Given the description of an element on the screen output the (x, y) to click on. 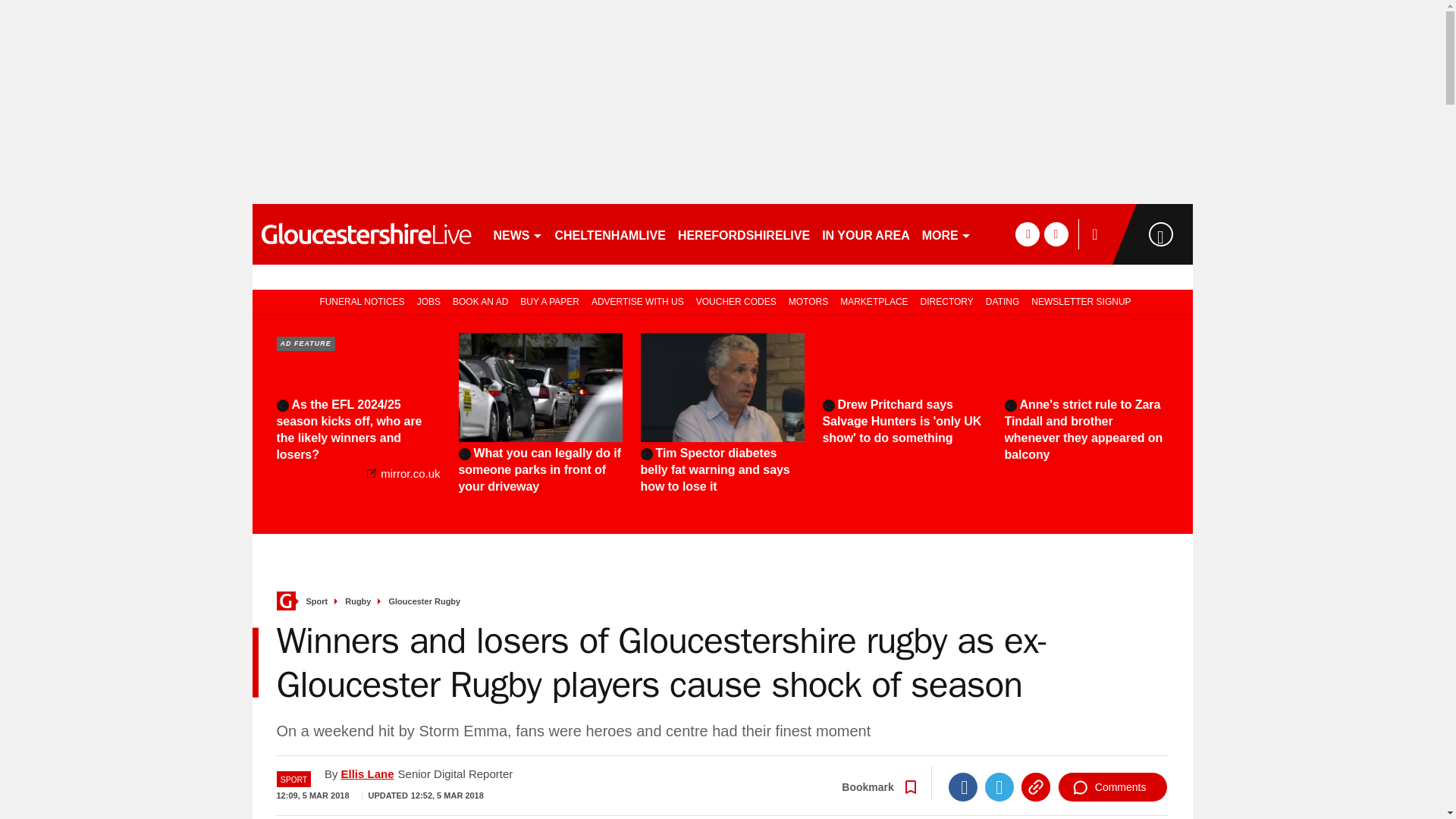
MORE (945, 233)
twitter (1055, 233)
Comments (1112, 787)
Twitter (999, 787)
facebook (1026, 233)
CHELTENHAMLIVE (609, 233)
gloucestershirelive (365, 233)
HEREFORDSHIRELIVE (743, 233)
NEWS (517, 233)
Facebook (962, 787)
